Given the description of an element on the screen output the (x, y) to click on. 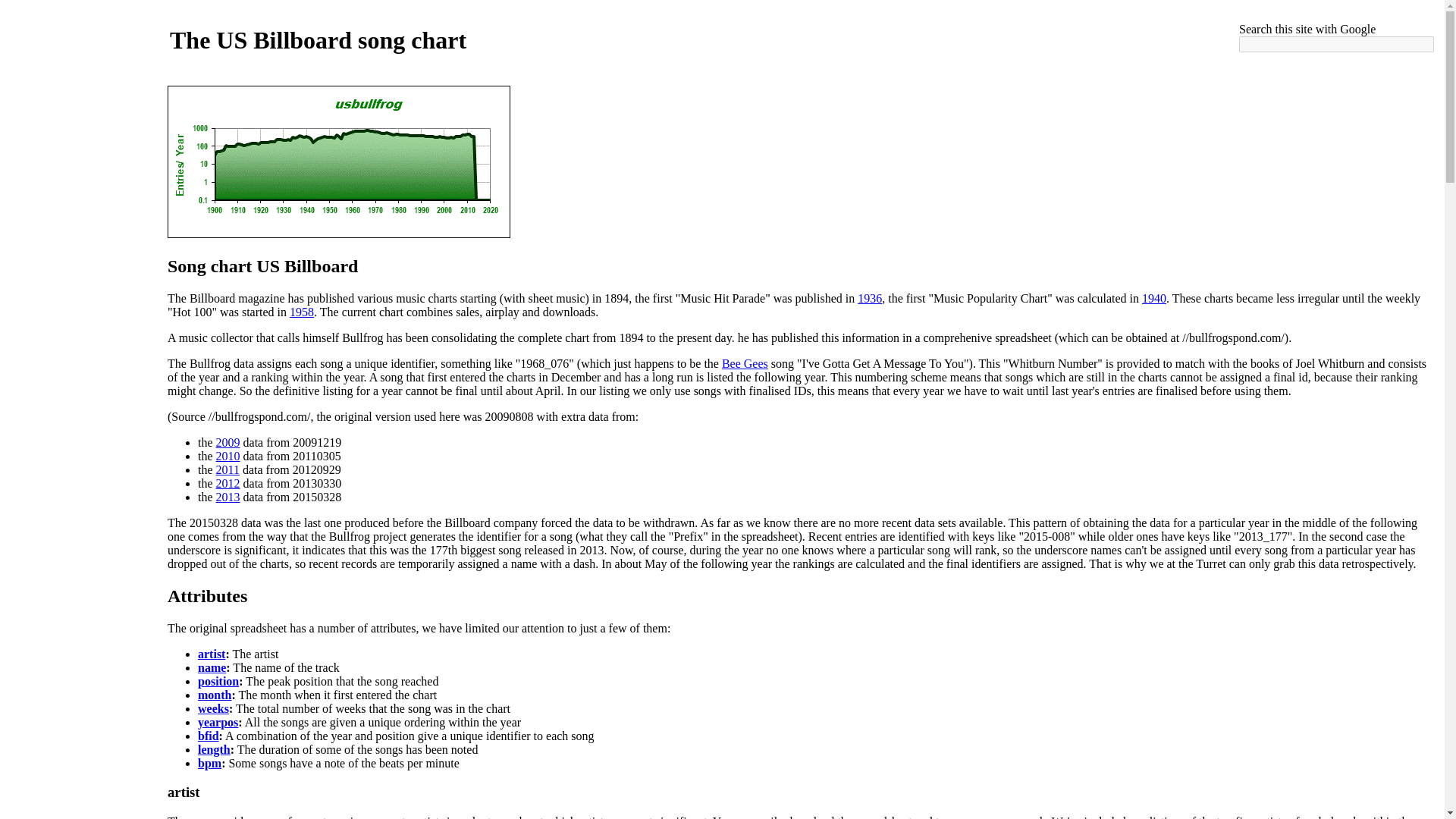
1936 (869, 297)
position (218, 680)
2013 (227, 496)
1940 (1153, 297)
2010 (227, 455)
length (214, 748)
yearpos (218, 721)
artist (183, 791)
bfid (208, 735)
month (214, 694)
